Given the description of an element on the screen output the (x, y) to click on. 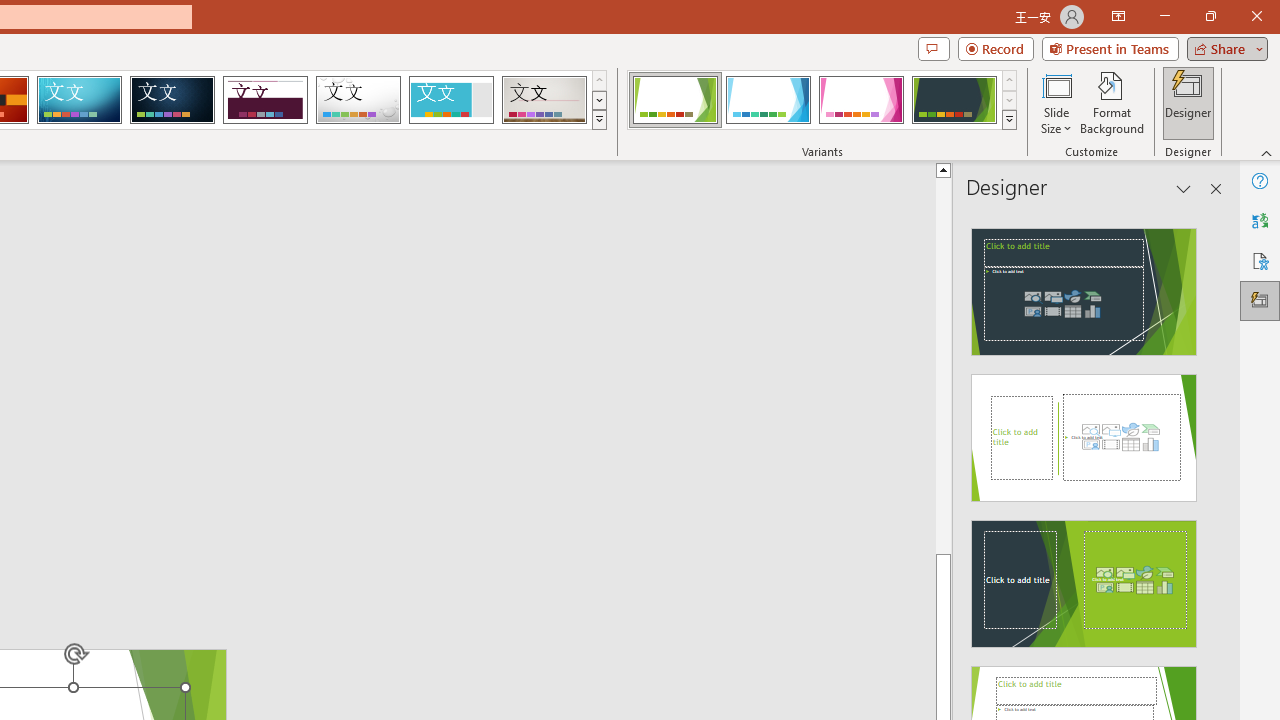
Facet Variant 2 (768, 100)
AutomationID: ThemeVariantsGallery (822, 99)
Gallery (544, 100)
Facet Variant 4 (953, 100)
Frame (450, 100)
